Given the description of an element on the screen output the (x, y) to click on. 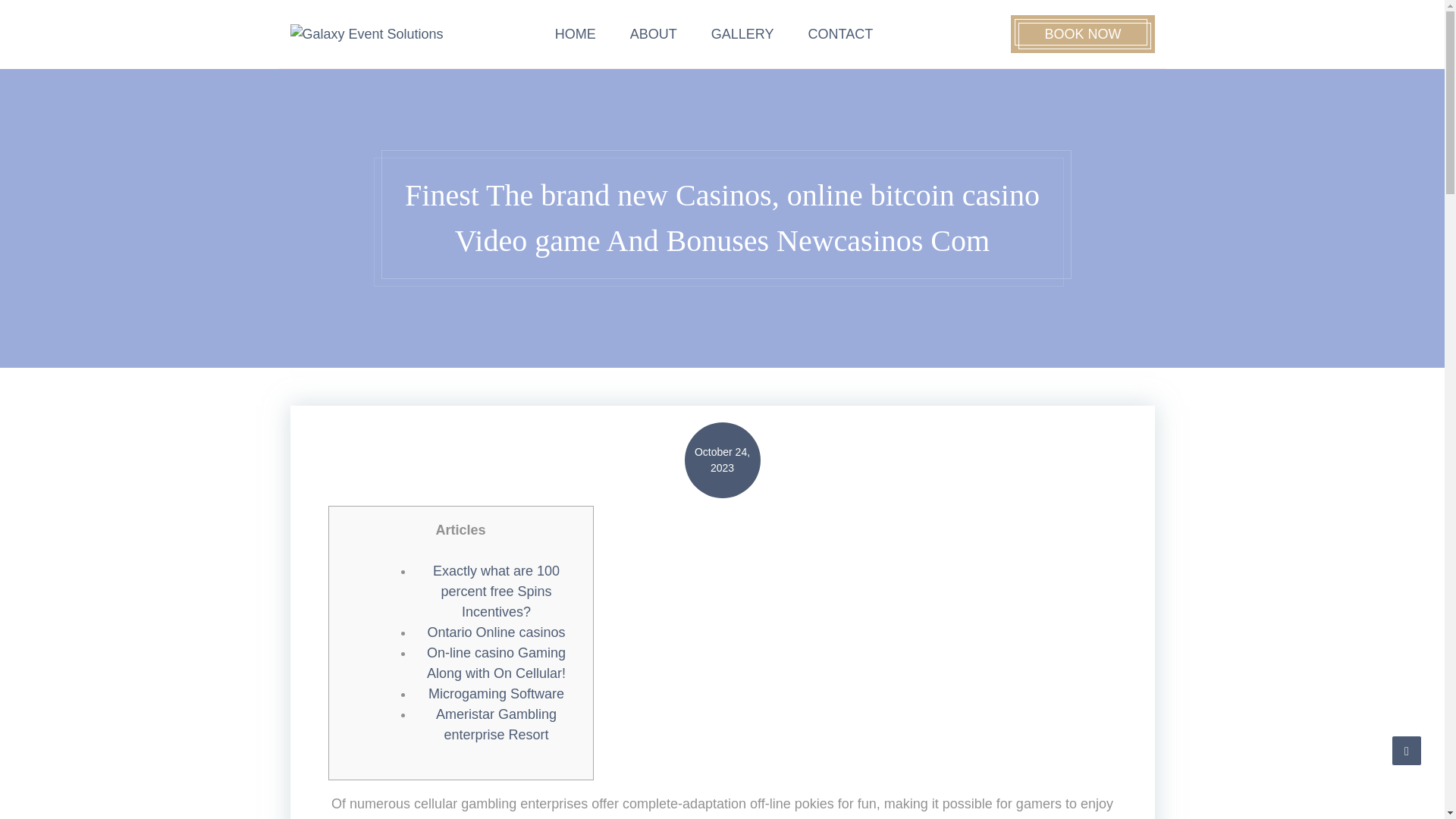
Exactly what are 100 percent free Spins Incentives? (495, 591)
On-line casino Gaming Along with On Cellular! (496, 662)
ABOUT (653, 34)
HOME (575, 34)
Go to Top (1406, 750)
Ontario Online casinos (495, 631)
CONTACT (840, 34)
online bitcoin casino (815, 817)
Ameristar Gambling enterprise Resort (495, 724)
GALLERY (742, 34)
